Given the description of an element on the screen output the (x, y) to click on. 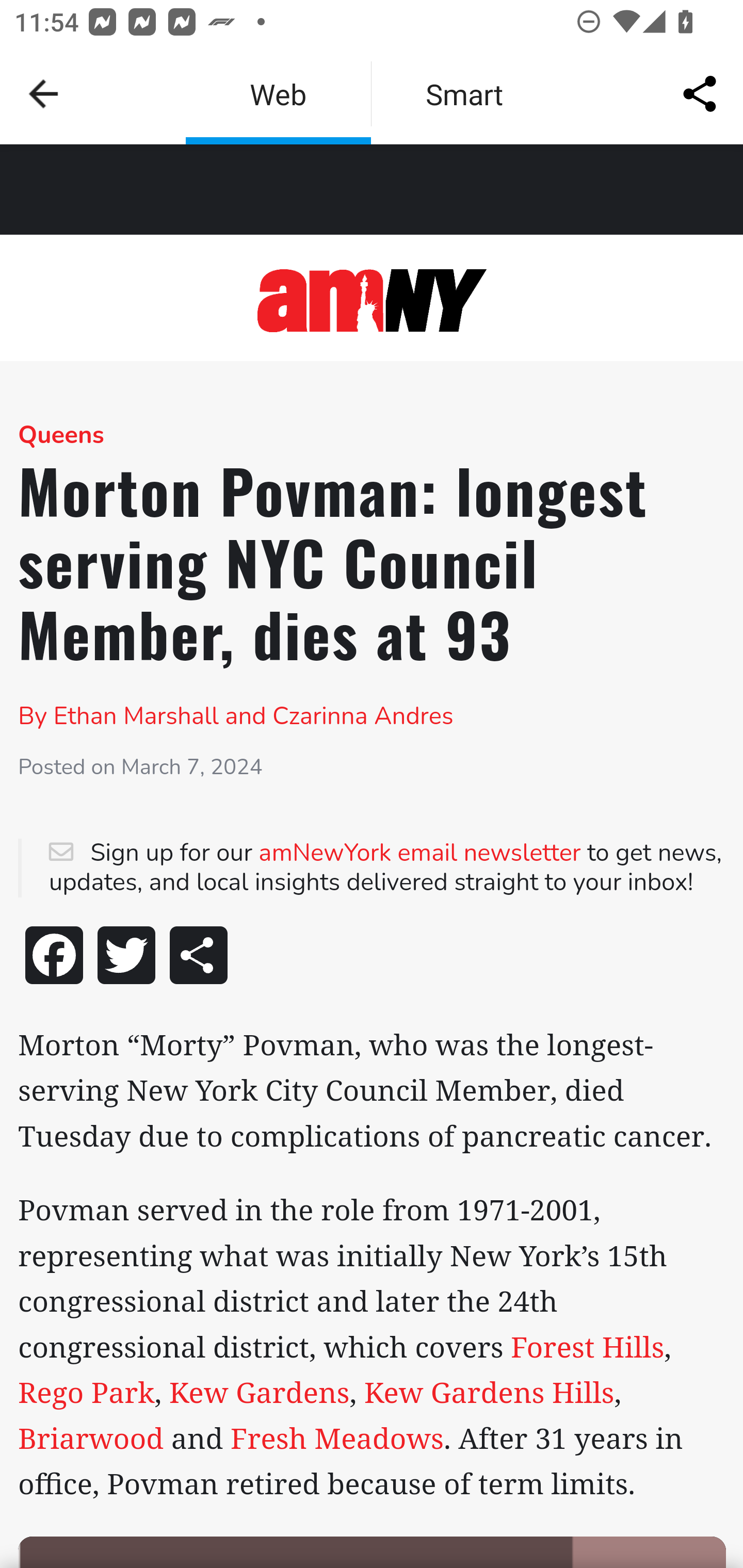
Web (277, 93)
Smart (464, 93)
Queens (60, 435)
amNewYork email newsletter (419, 853)
Facebook (54, 958)
Twitter (127, 958)
Share (198, 958)
 Forest Hills   Forest Hills (584, 1346)
 Rego Park   Rego Park (86, 1393)
 Kew Gardens   Kew Gardens (255, 1393)
 Kew Gardens Hills   Kew Gardens Hills (485, 1393)
 Briarwood   Briarwood (90, 1439)
 Fresh Meadows   Fresh Meadows (333, 1439)
